Given the description of an element on the screen output the (x, y) to click on. 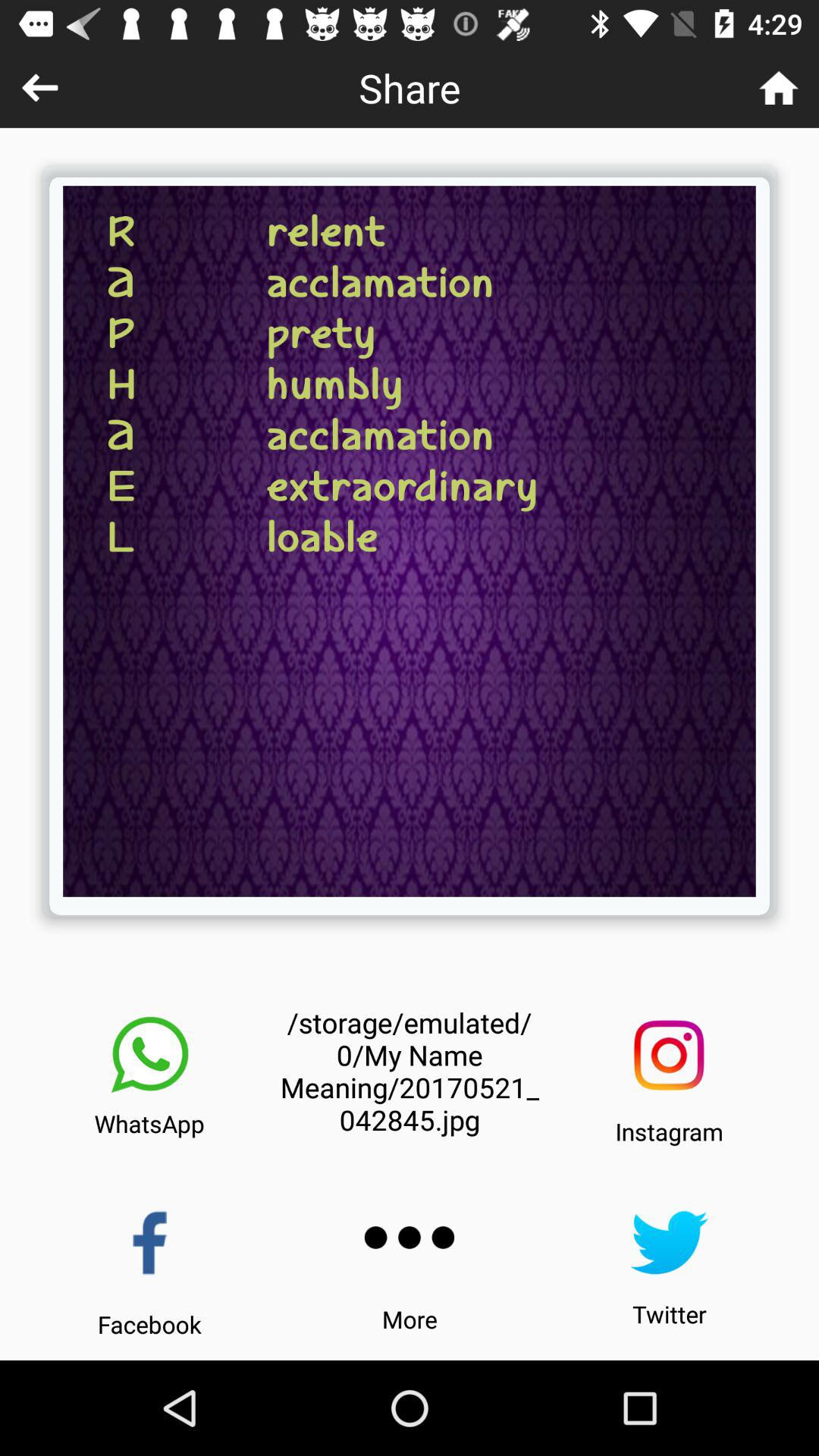
go to home screen (778, 87)
